Given the description of an element on the screen output the (x, y) to click on. 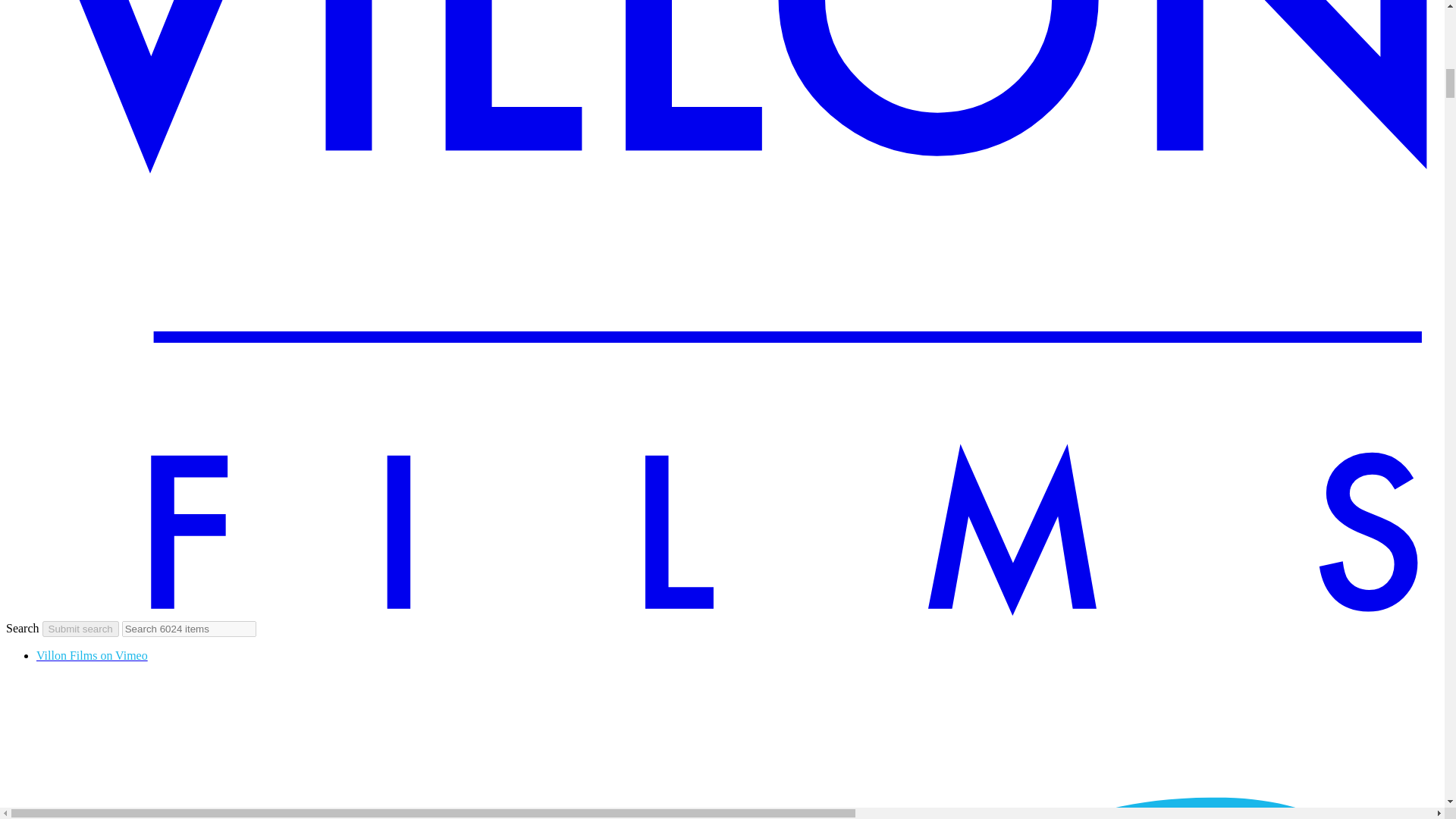
Submit search (80, 628)
